Given the description of an element on the screen output the (x, y) to click on. 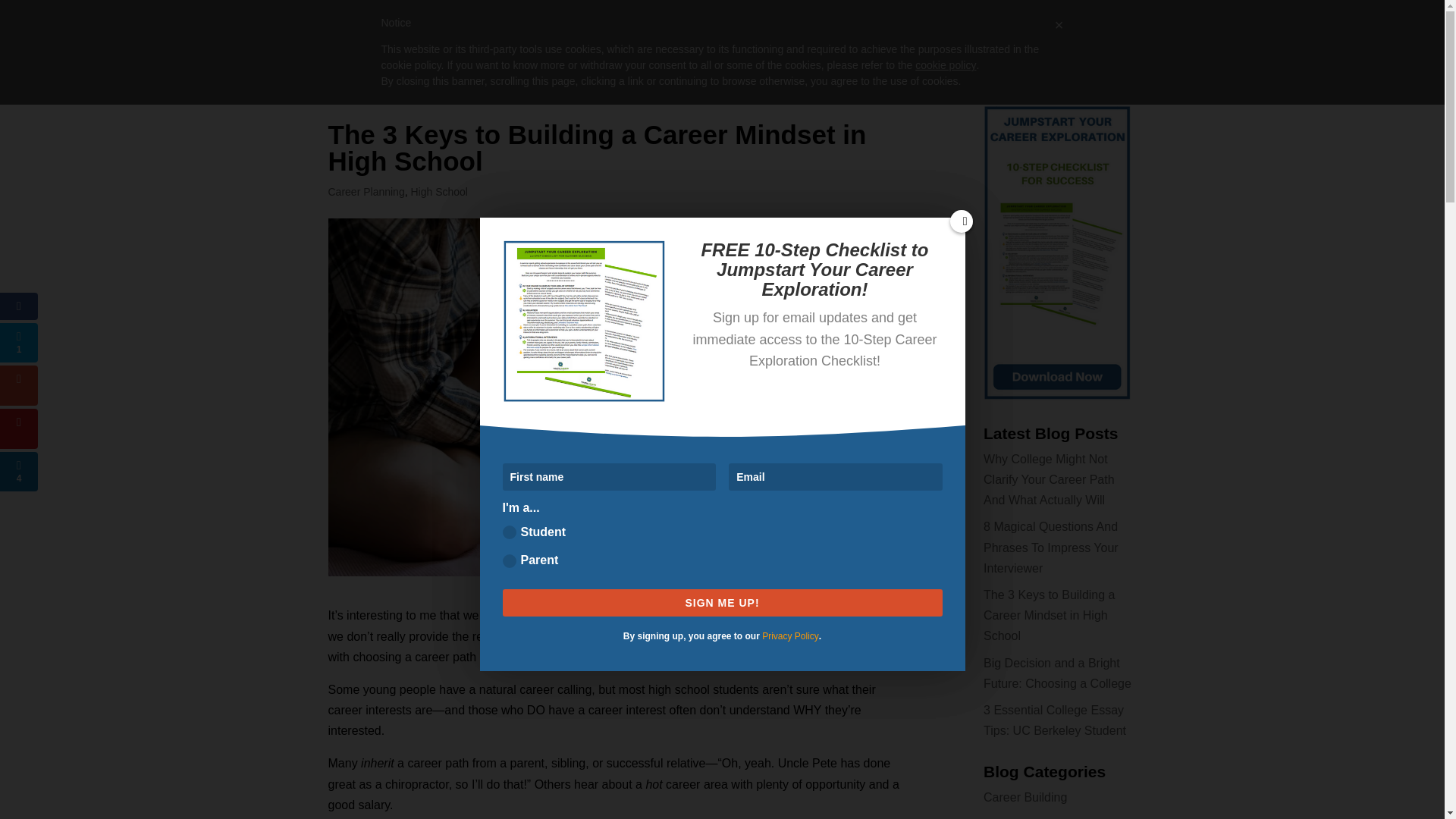
Big Decision and a Bright Future: Choosing a College (1057, 673)
8 Magical Questions And Phrases To Impress Your Interviewer (1051, 547)
ABOUT (484, 43)
Career Planning (365, 191)
3 Essential College Essay Tips: UC Berkeley Student (1054, 720)
The 3 Keys to Building a Career Mindset in High School (1049, 615)
Career Planning (1027, 818)
BLOG (941, 43)
Career Building (1025, 797)
HOME (430, 43)
KUDOS (887, 43)
CONNECT (1002, 43)
SIGN ME UP! (722, 602)
High School (438, 191)
